Given the description of an element on the screen output the (x, y) to click on. 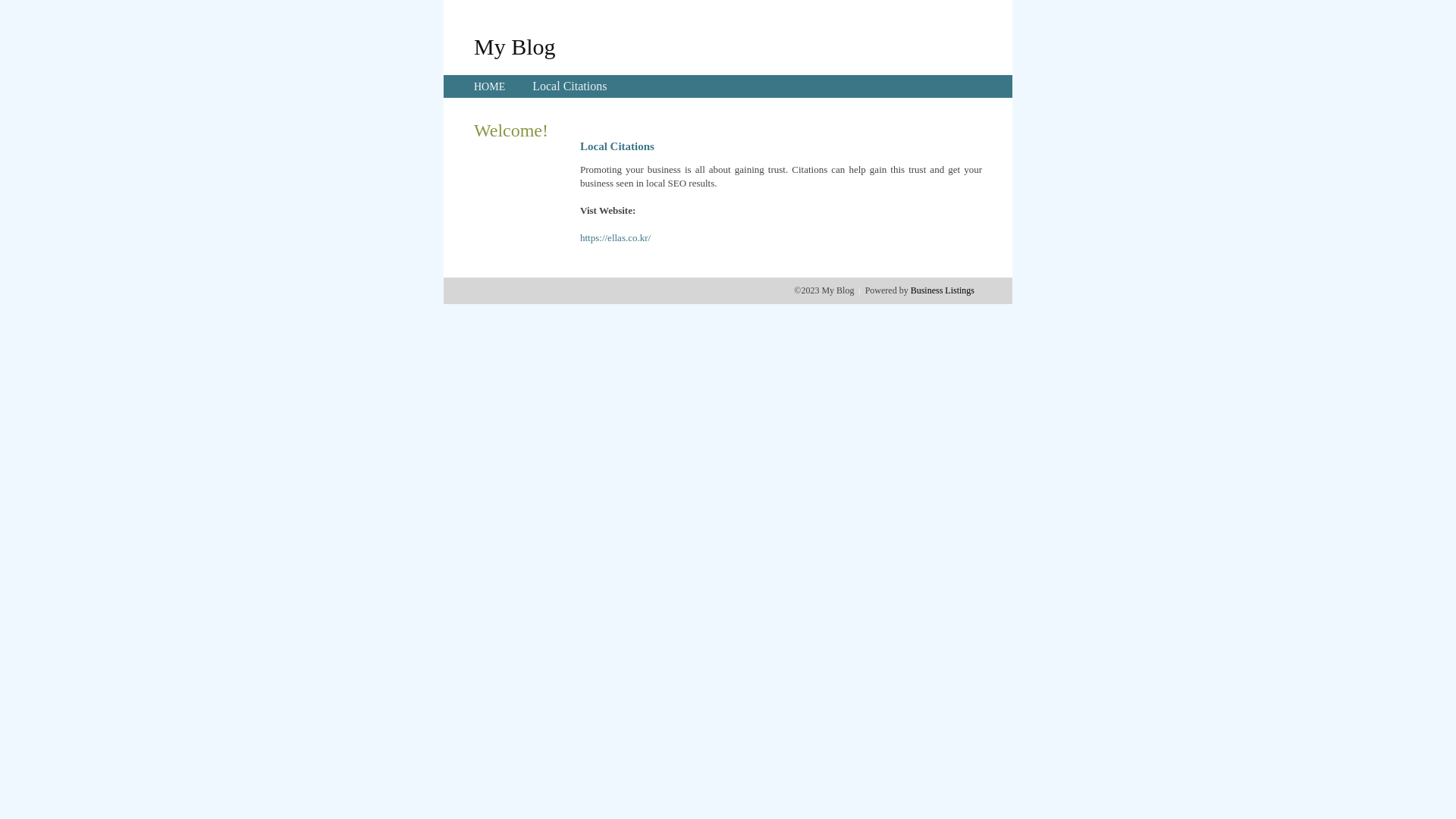
https://ellas.co.kr/ Element type: text (615, 237)
My Blog Element type: text (514, 46)
Local Citations Element type: text (569, 85)
Business Listings Element type: text (942, 290)
HOME Element type: text (489, 86)
